Given the description of an element on the screen output the (x, y) to click on. 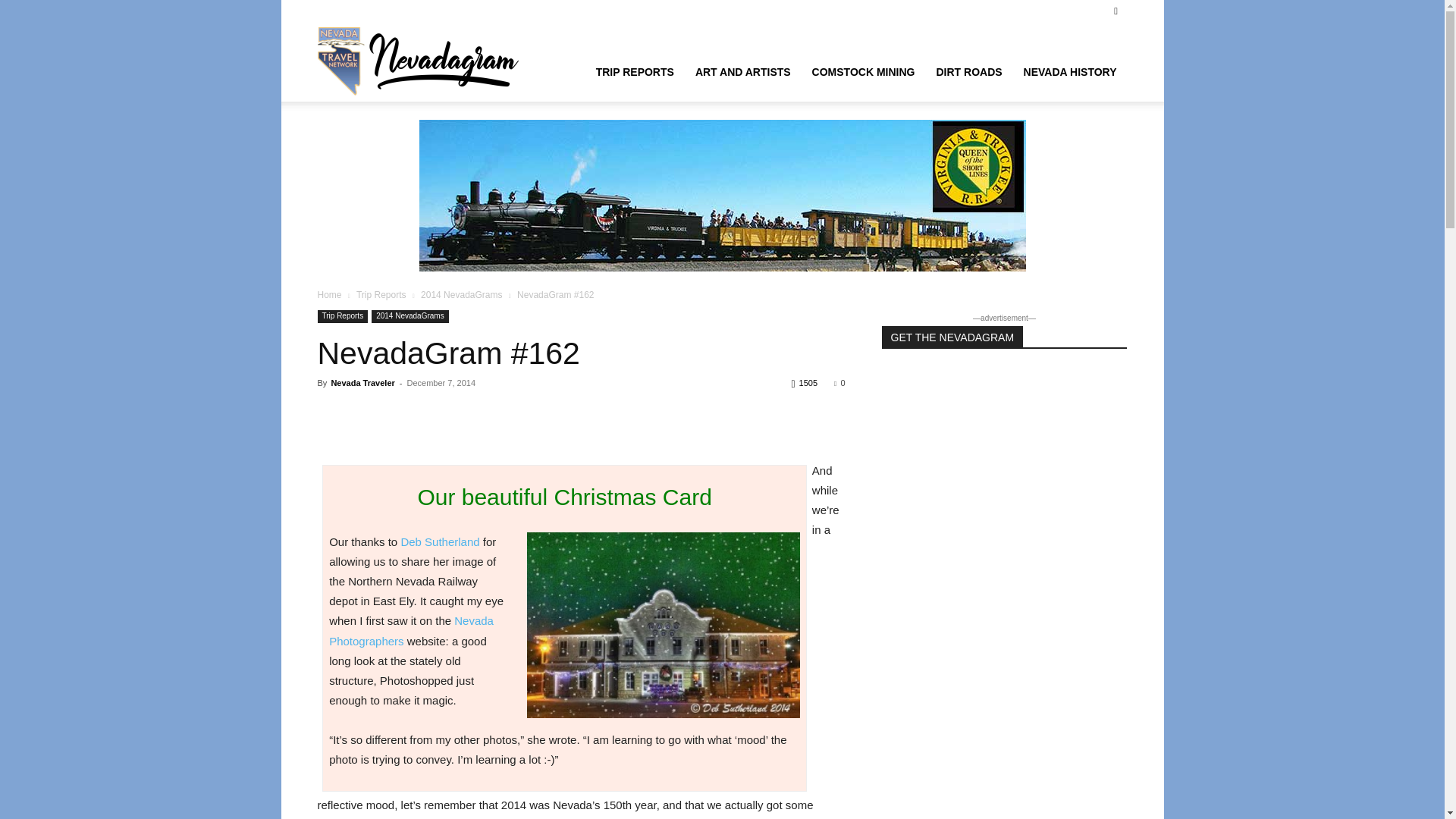
ART AND ARTISTS (743, 71)
2014 NevadaGrams (409, 316)
View all posts in Trip Reports (381, 294)
Nevada Photographers (411, 630)
Nevada Photographers on Facebook (411, 630)
View all posts in 2014 NevadaGrams (461, 294)
COMSTOCK MINING (864, 71)
2014 NevadaGrams (461, 294)
Trip Reports (381, 294)
Deb Sutherland (439, 541)
Deb Sutherland on Facebook (439, 541)
DIRT ROADS (967, 71)
TRIP REPORTS (634, 71)
NEVADA HISTORY (1069, 71)
Home (328, 294)
